Given the description of an element on the screen output the (x, y) to click on. 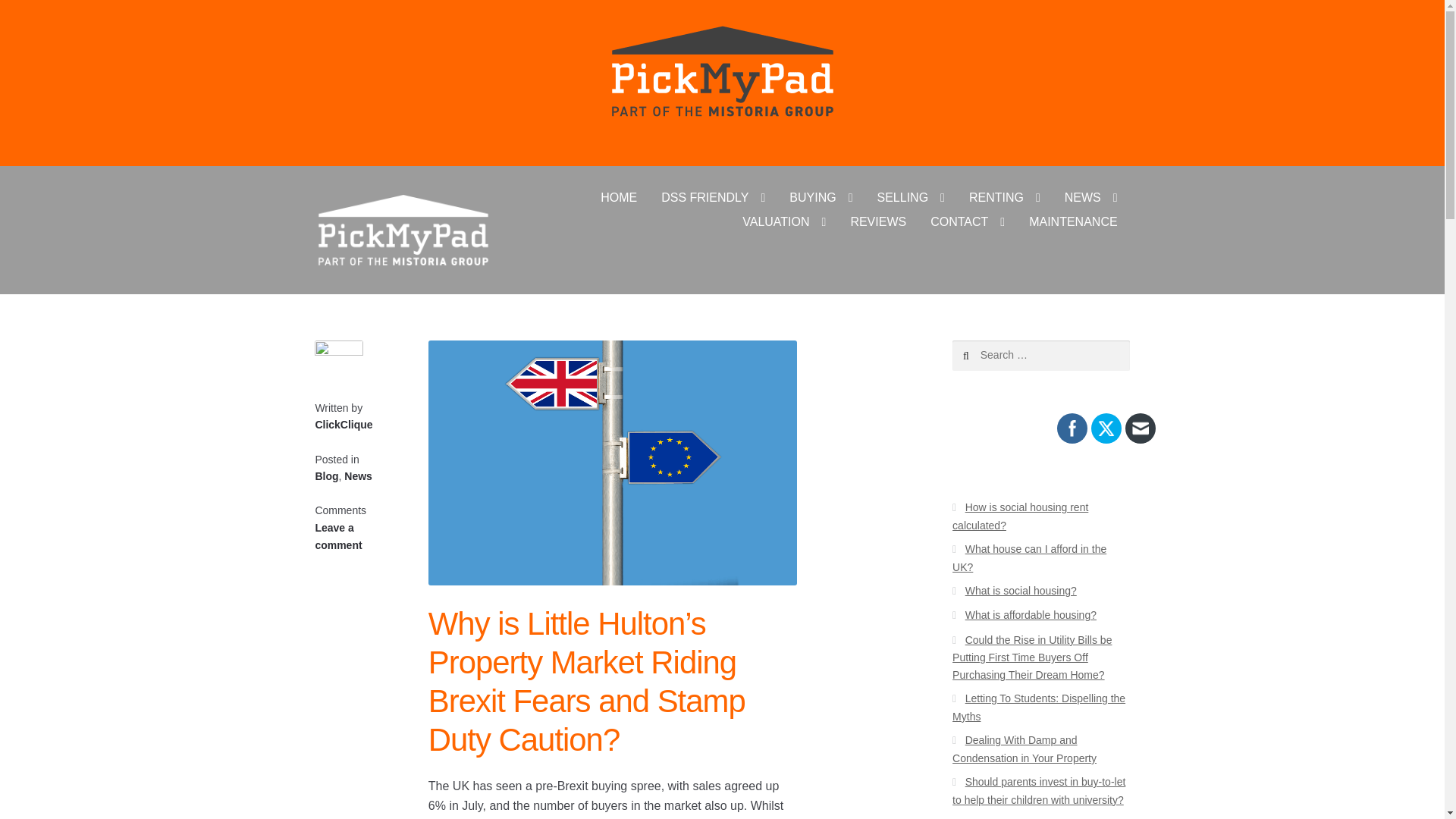
Facebook (1072, 428)
Follow by Email (1140, 428)
HOME (618, 197)
BUYING (820, 197)
Search (984, 355)
MAINTENANCE (1072, 221)
DSS FRIENDLY (713, 197)
VALUATION (784, 221)
CONTACT (967, 221)
RENTING (1004, 197)
NEWS (1090, 197)
Posts by ClickClique (343, 424)
Search (984, 355)
REVIEWS (878, 221)
